Given the description of an element on the screen output the (x, y) to click on. 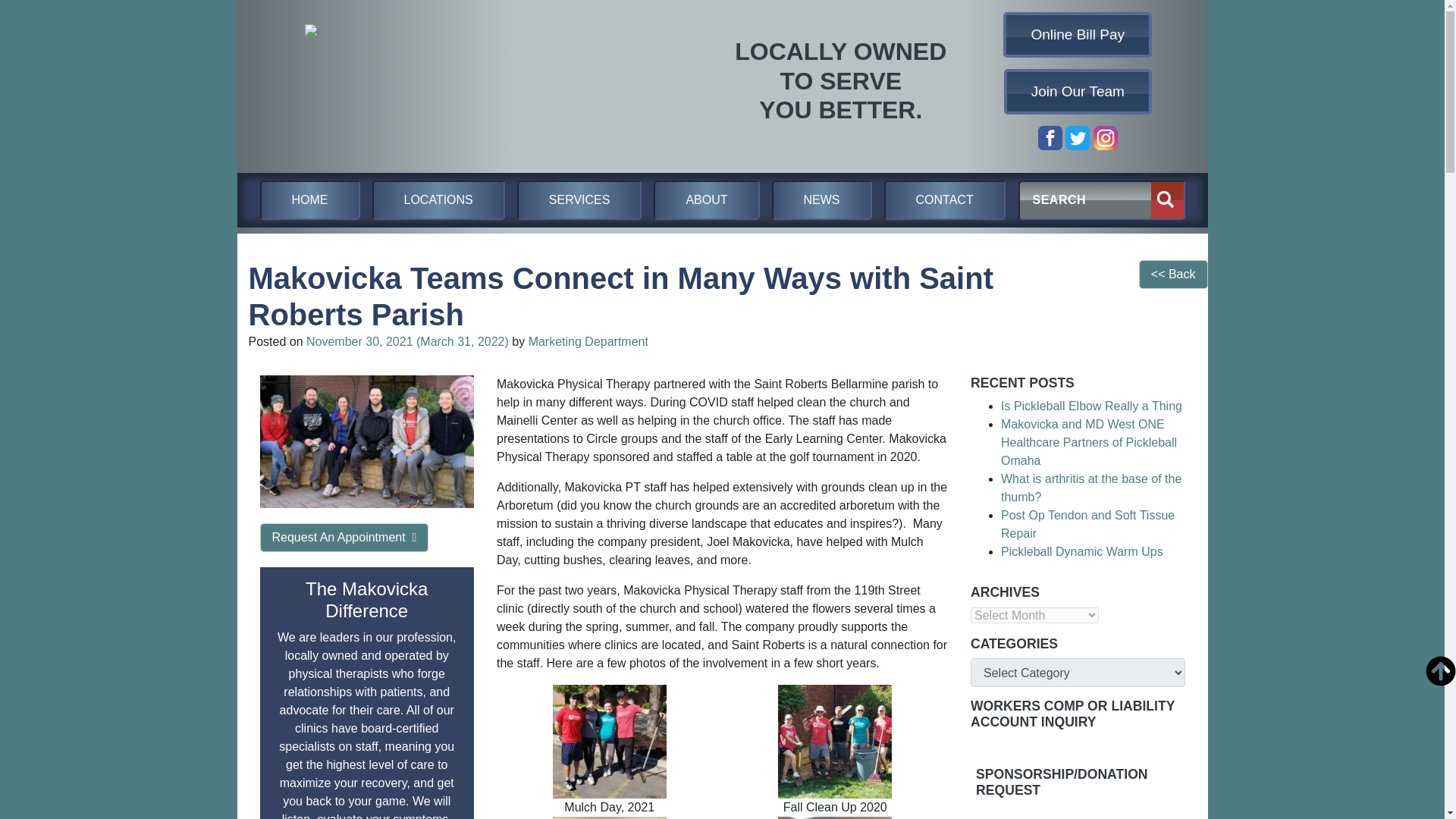
CONTACT (944, 199)
Online Bill Pay (1077, 34)
SERVICES (579, 199)
LOCATIONS (437, 199)
Makovicka Physical Therapy (459, 81)
NEWS (821, 199)
ABOUT (706, 199)
Make a Payment (1077, 34)
Join Our Team (1077, 91)
Join Our Team (1077, 91)
